Given the description of an element on the screen output the (x, y) to click on. 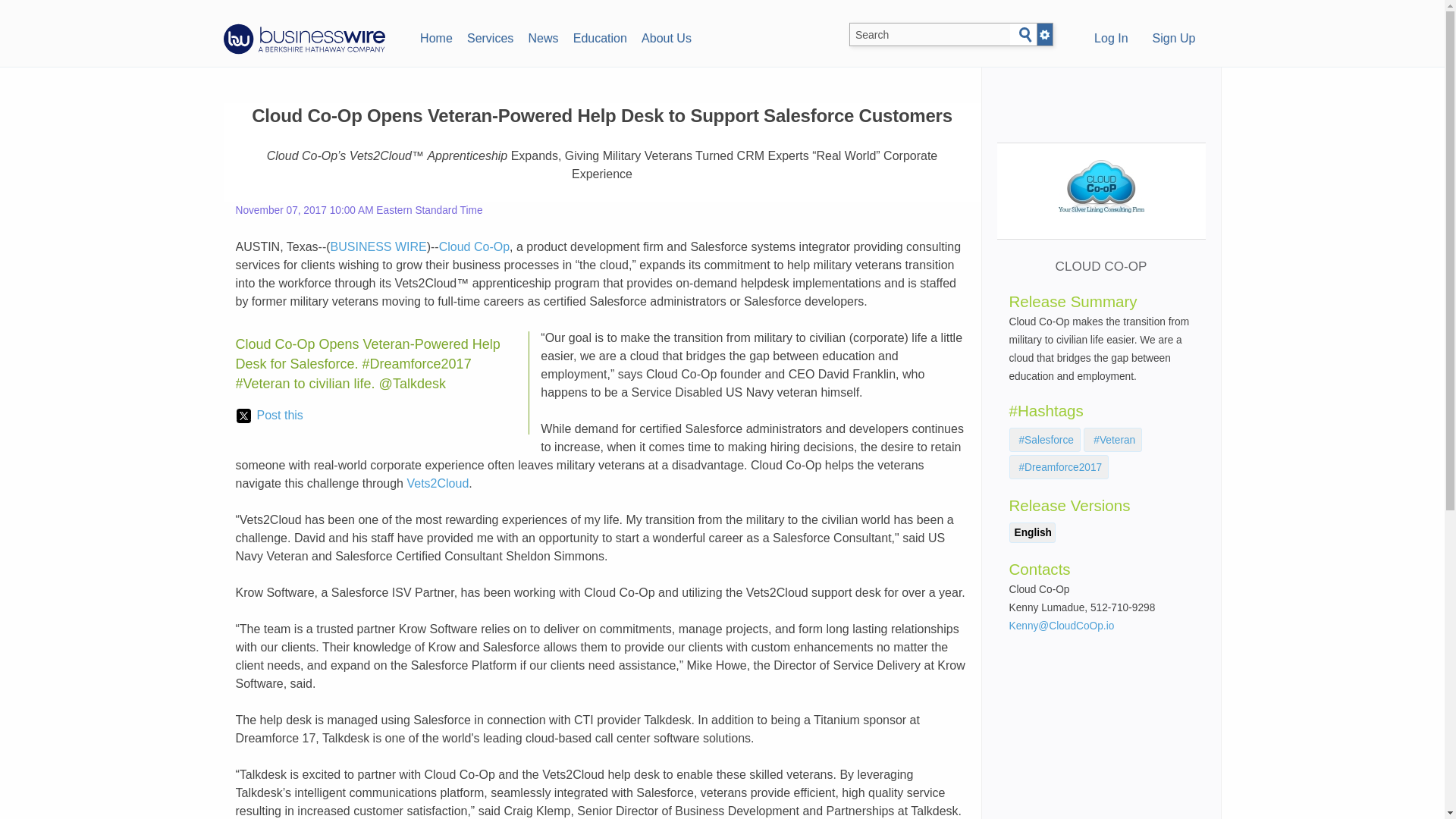
News (543, 36)
Home (436, 36)
Cloud Co-Op (474, 246)
Education (599, 36)
Search BusinessWire.com (930, 34)
Search (1025, 34)
Vets2Cloud (437, 482)
Services (490, 36)
BUSINESS WIRE (378, 246)
Post this (269, 415)
